Given the description of an element on the screen output the (x, y) to click on. 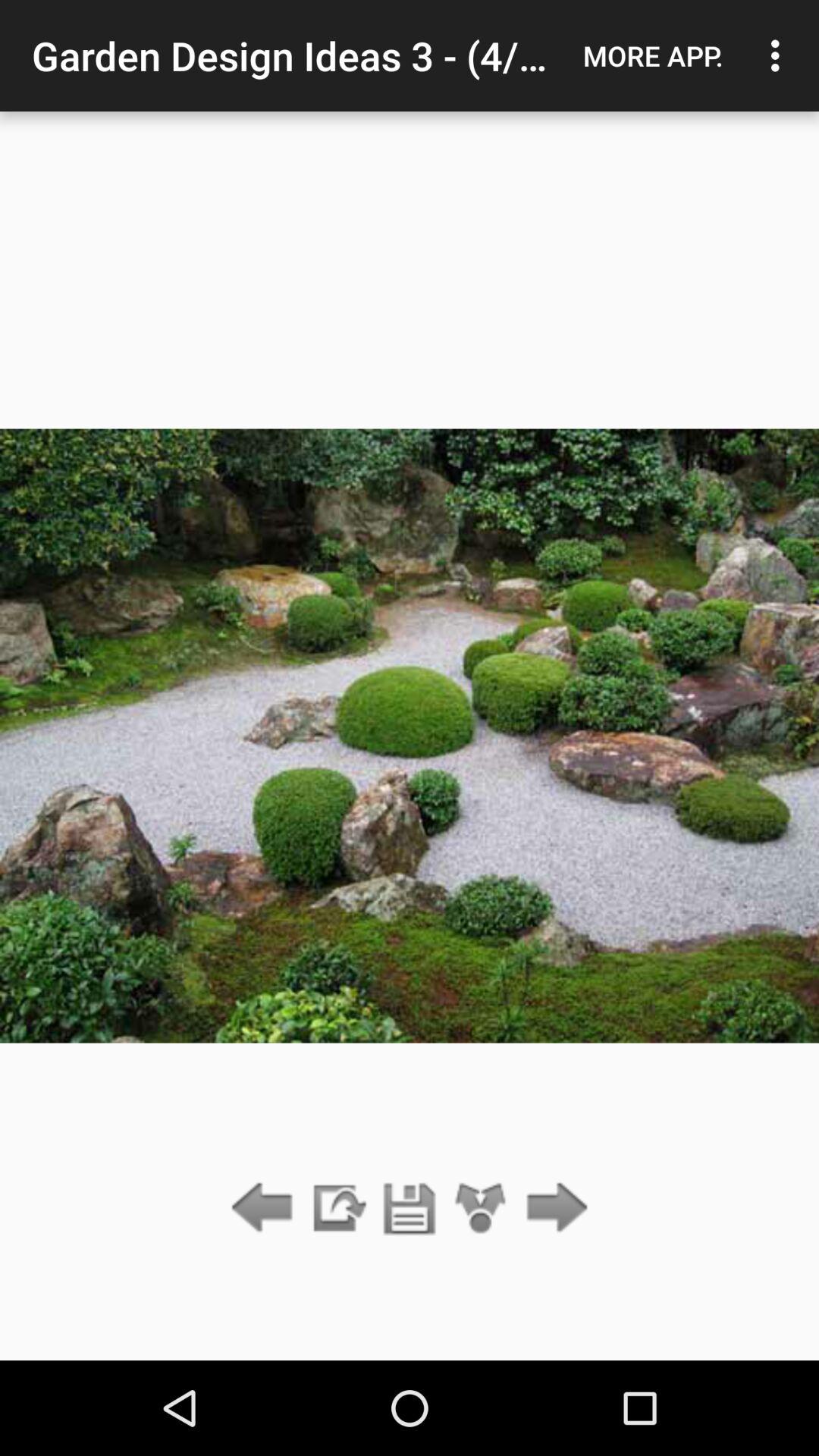
go to previous (266, 1209)
